Given the description of an element on the screen output the (x, y) to click on. 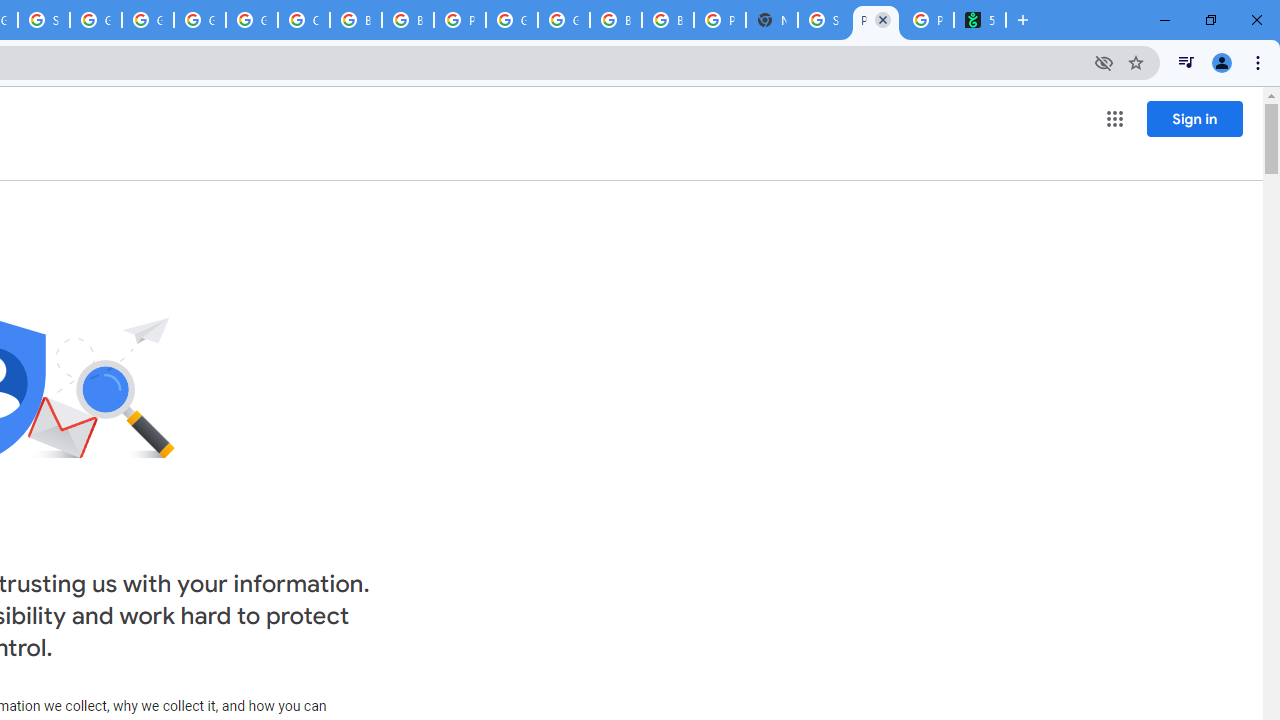
Browse Chrome as a guest - Computer - Google Chrome Help (355, 20)
Google Cloud Platform (511, 20)
Google Cloud Platform (563, 20)
Sign in - Google Accounts (43, 20)
